Given the description of an element on the screen output the (x, y) to click on. 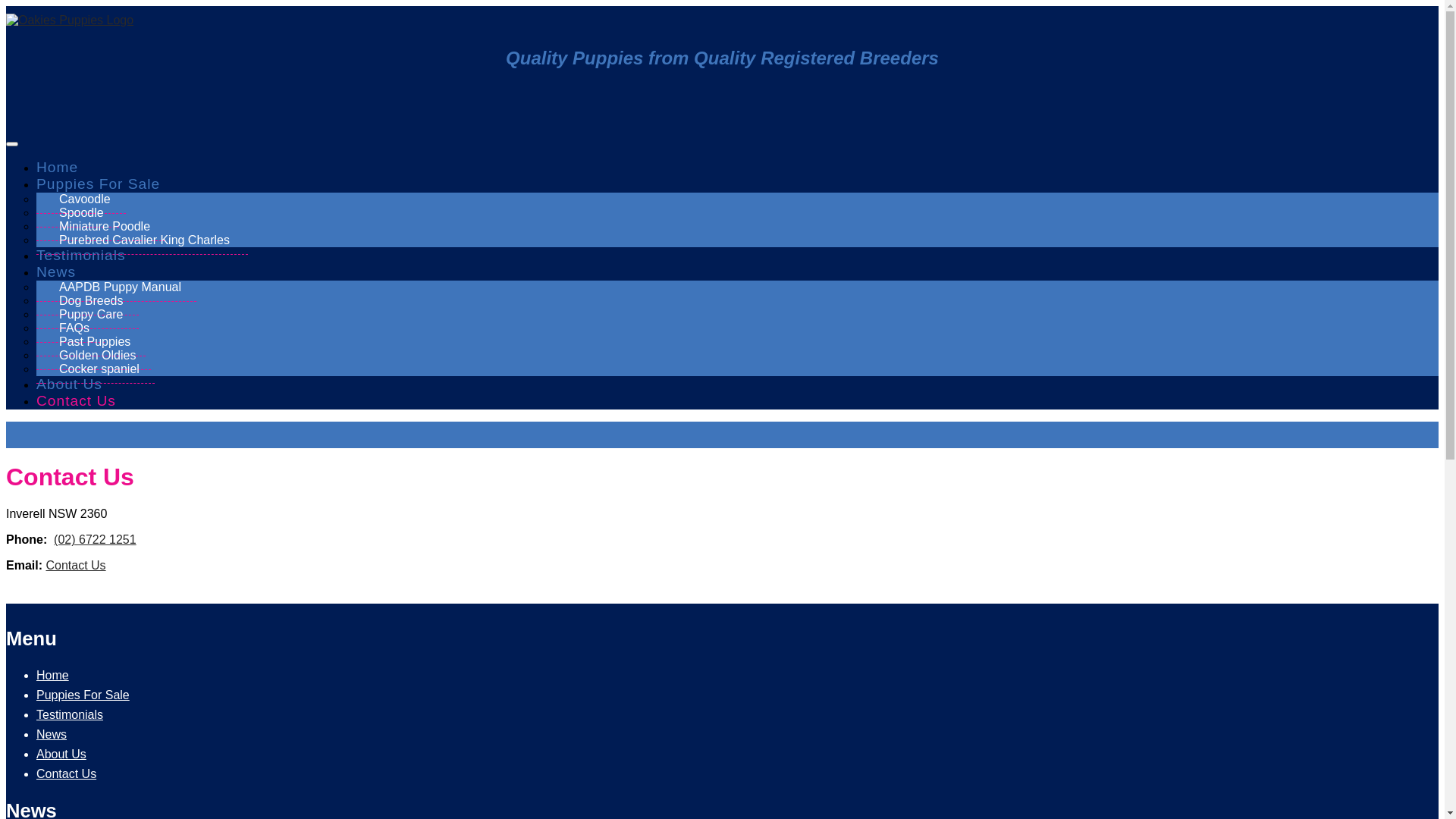
Home Element type: text (57, 166)
Contact Us Element type: text (66, 773)
Contact Us Element type: text (75, 564)
Home Element type: text (52, 674)
Testimonials Element type: text (69, 714)
Contact Us Element type: text (76, 400)
About Us Element type: text (61, 753)
Cavoodle Element type: text (80, 199)
News  Element type: text (58, 271)
Golden Oldies Element type: text (93, 355)
Puppies For Sale Element type: text (82, 694)
Past Puppies Element type: text (90, 341)
Puppy Care Element type: text (87, 314)
(02) 6722 1251 Element type: text (94, 539)
About Us Element type: text (69, 383)
Puppies For Sale  Element type: text (100, 183)
Purebred Cavalier King Charles  Element type: text (141, 239)
Testimonials Element type: text (80, 254)
Dog Breeds Element type: text (87, 300)
FAQs Element type: text (70, 327)
Spoodle Element type: text (77, 212)
Cocker spaniel Element type: text (95, 368)
AAPDB Puppy Manual Element type: text (116, 287)
Miniature Poodle Element type: text (100, 226)
News Element type: text (51, 734)
